Given the description of an element on the screen output the (x, y) to click on. 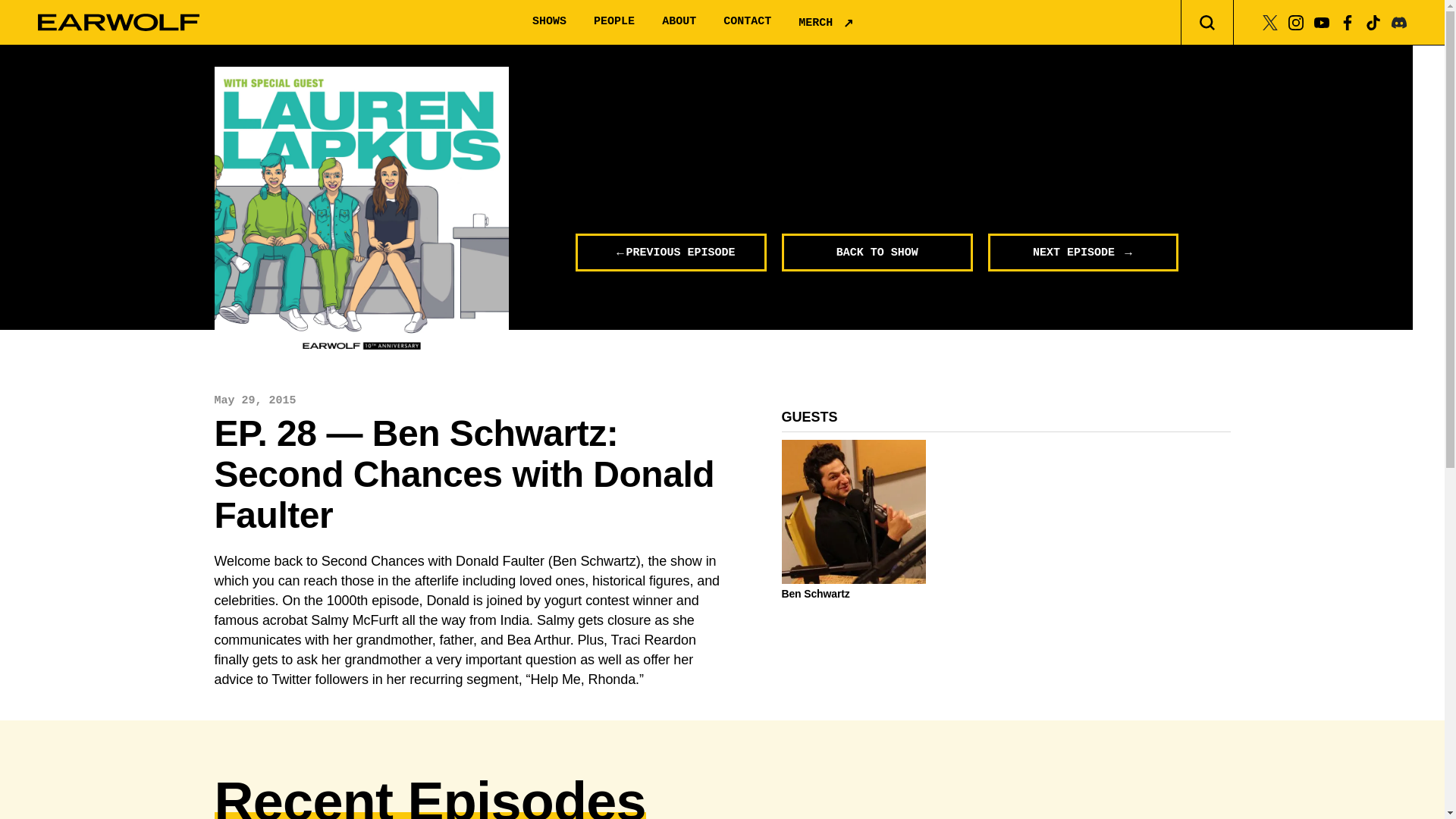
PEOPLE (614, 21)
Toggle Search (1206, 22)
SHOWS (549, 21)
Ben Schwartz: Second Chances with Donald Faulter (361, 213)
Facebook (1347, 21)
Tiktok (1372, 21)
Instagram (1295, 21)
YouTube (1321, 21)
Ben Schwartz (853, 593)
Earwolf (118, 22)
